Given the description of an element on the screen output the (x, y) to click on. 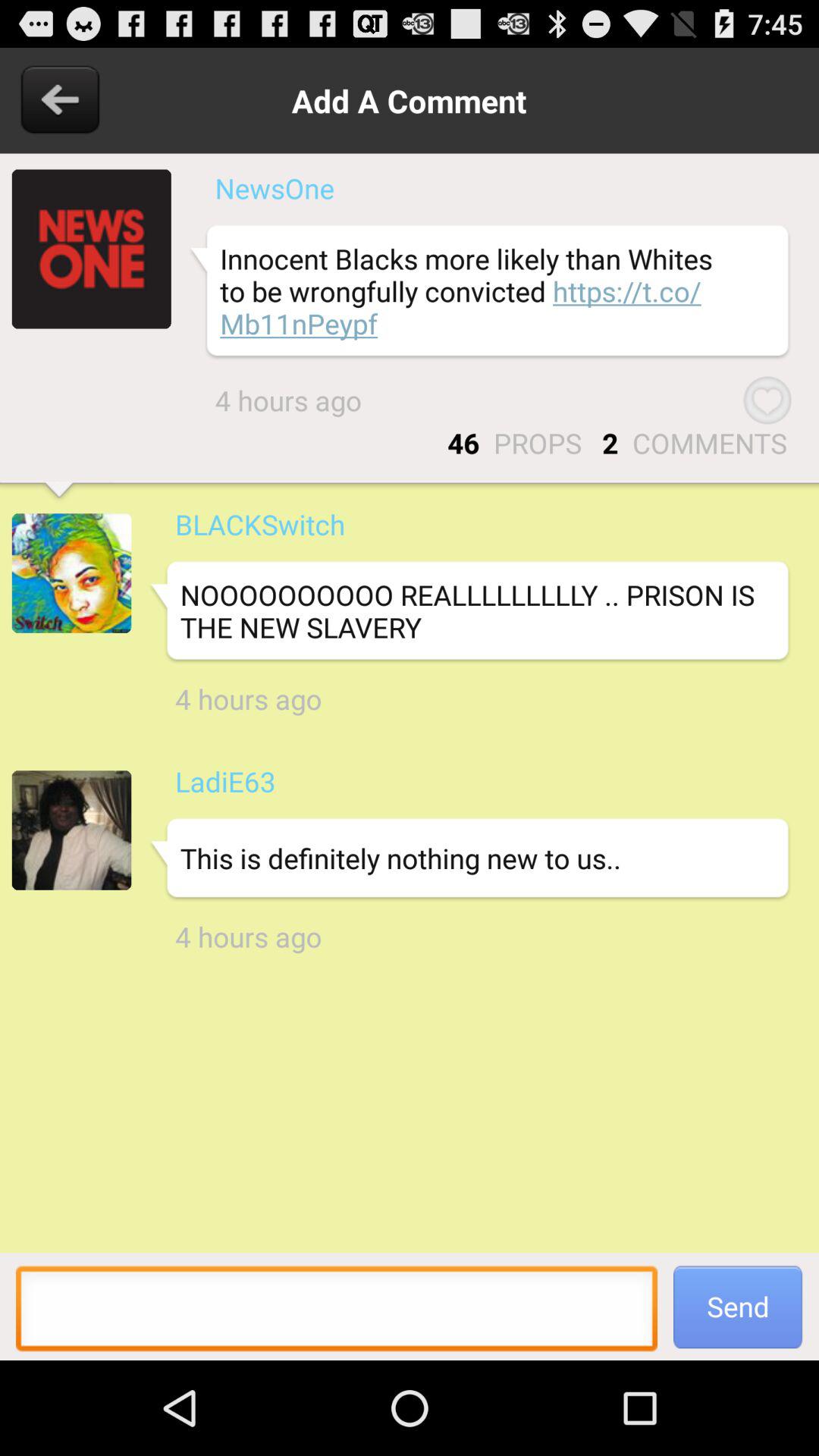
jump to noooooooooo reallllllllly prison icon (469, 611)
